Given the description of an element on the screen output the (x, y) to click on. 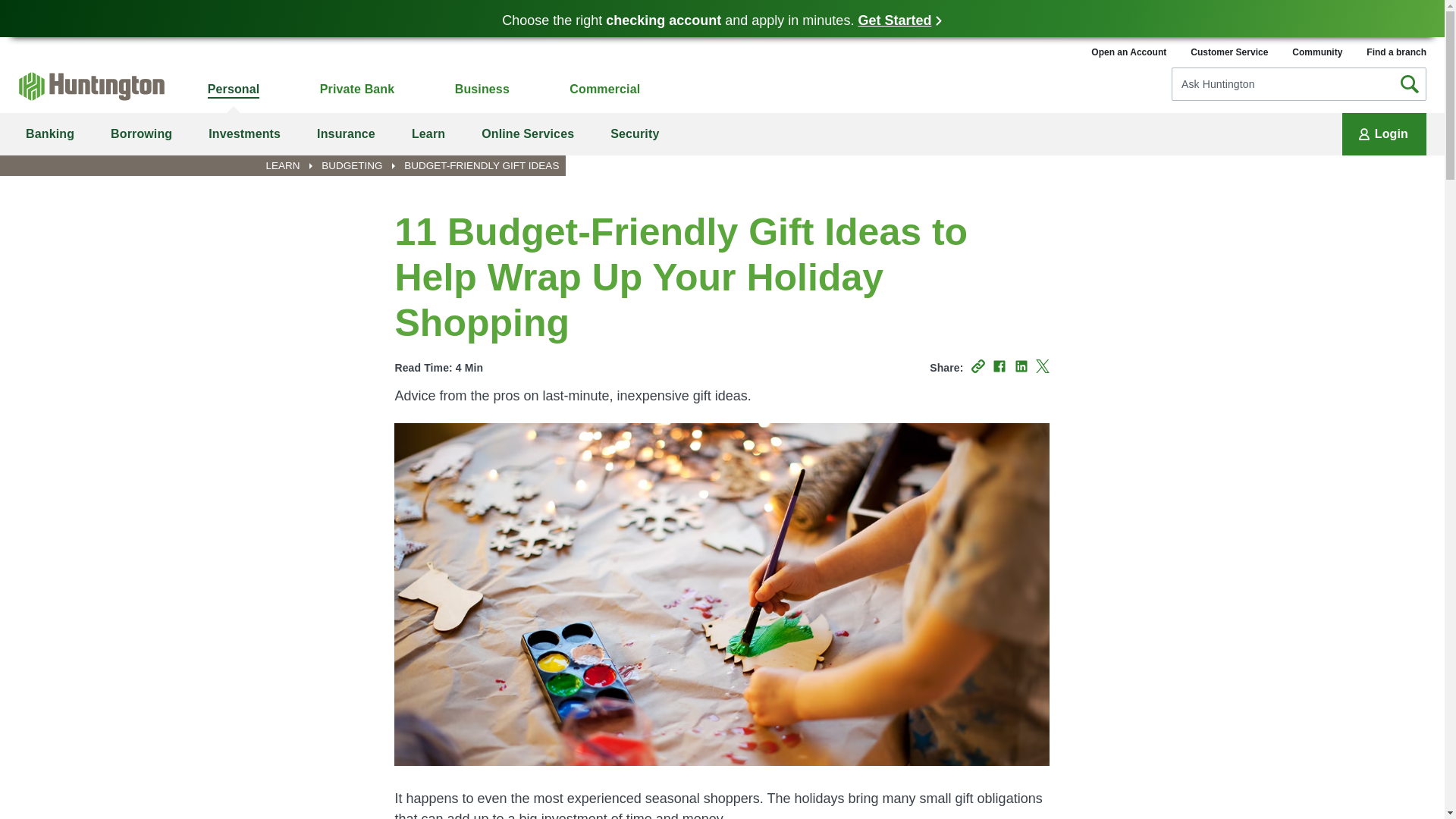
Banking (50, 134)
Visit Huntington's LinkedIn page (1020, 366)
Open an Account (1128, 52)
Private Bank (357, 89)
Skip to navigation (11, 46)
Get Started (899, 20)
Visit Huntington's Facebook page (999, 366)
Find a branch (1396, 52)
Personal (234, 89)
Huntington in the Community (1317, 52)
